Given the description of an element on the screen output the (x, y) to click on. 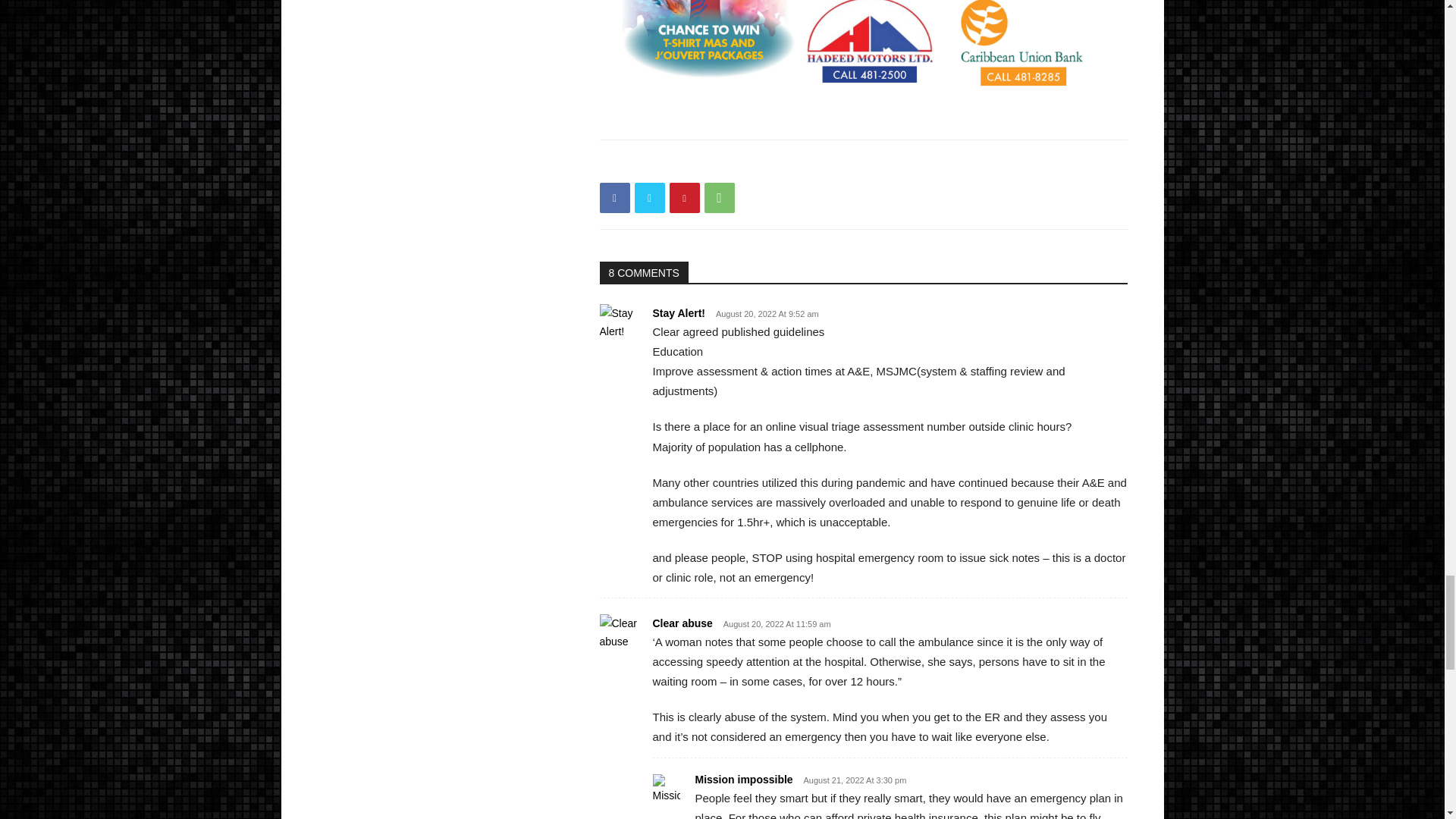
bottomFacebookLike (712, 163)
WhatsApp (718, 197)
Facebook (613, 197)
Pinterest (683, 197)
Twitter (648, 197)
